Given the description of an element on the screen output the (x, y) to click on. 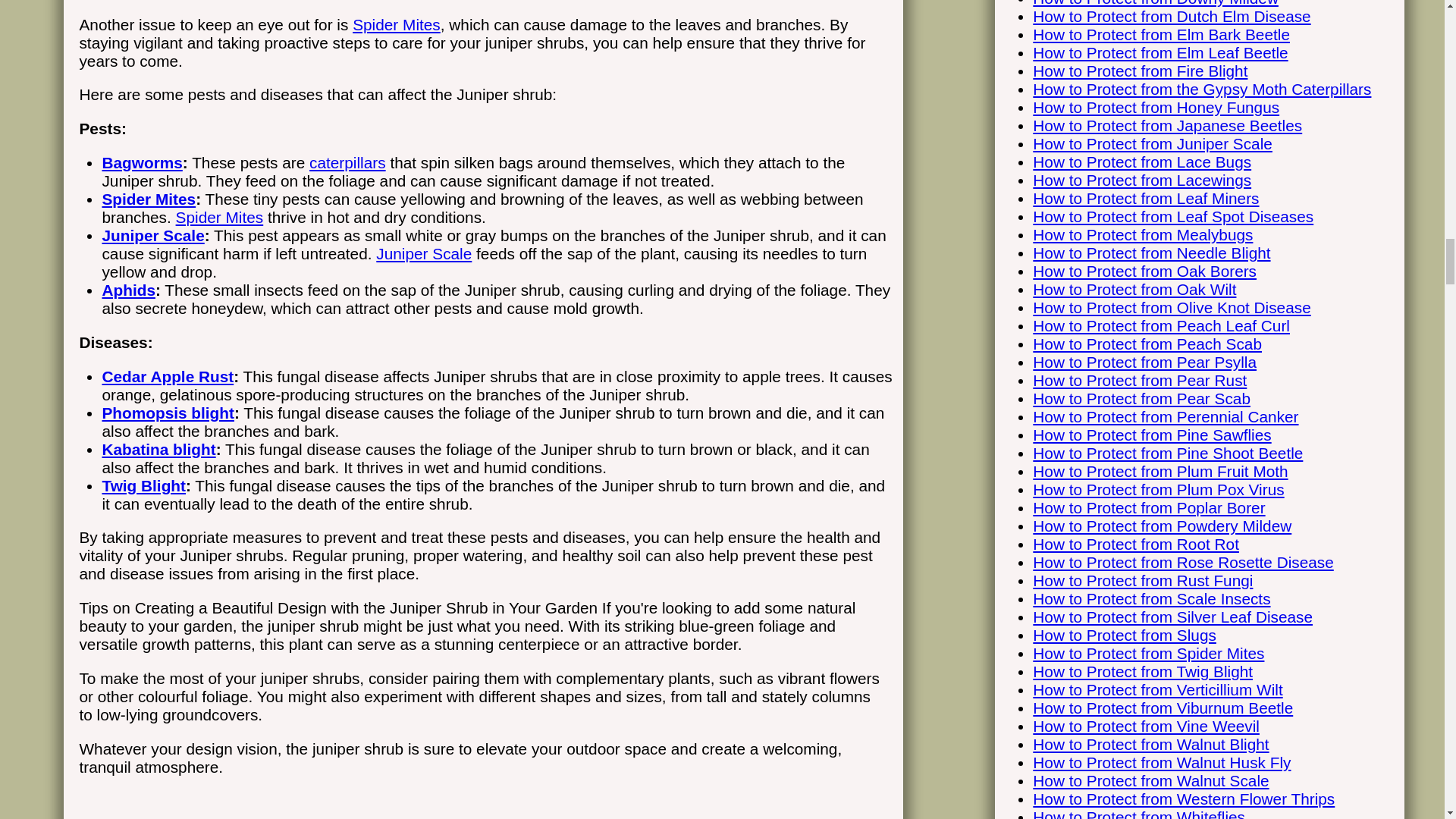
Cedar Apple Rust (166, 375)
Twig Blight (143, 485)
Spider Mites (219, 217)
Spider Mites (396, 24)
caterpillars (346, 162)
Juniper Scale (423, 253)
Phomopsis blight (166, 412)
Juniper Scale (152, 235)
Spider Mites (148, 199)
Bagworms (141, 162)
Aphids (127, 289)
Kabatina blight (158, 448)
